Given the description of an element on the screen output the (x, y) to click on. 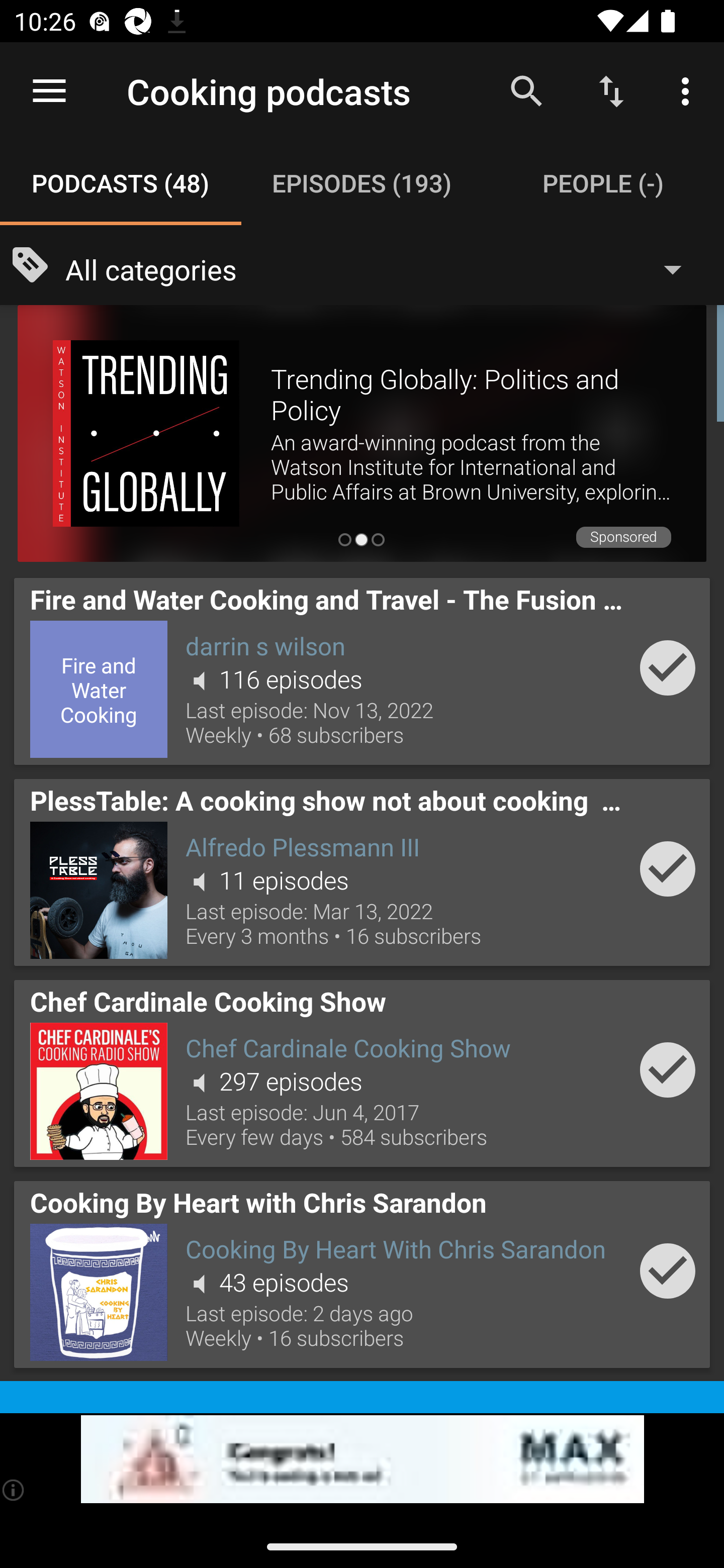
Open navigation sidebar (49, 91)
Search (526, 90)
Sort (611, 90)
More options (688, 90)
Episodes (193) EPISODES (193) (361, 183)
People (-) PEOPLE (-) (603, 183)
All categories (383, 268)
Add (667, 667)
Add (667, 868)
Add (667, 1069)
Add (667, 1271)
app-monetization (362, 1459)
(i) (14, 1489)
